Given the description of an element on the screen output the (x, y) to click on. 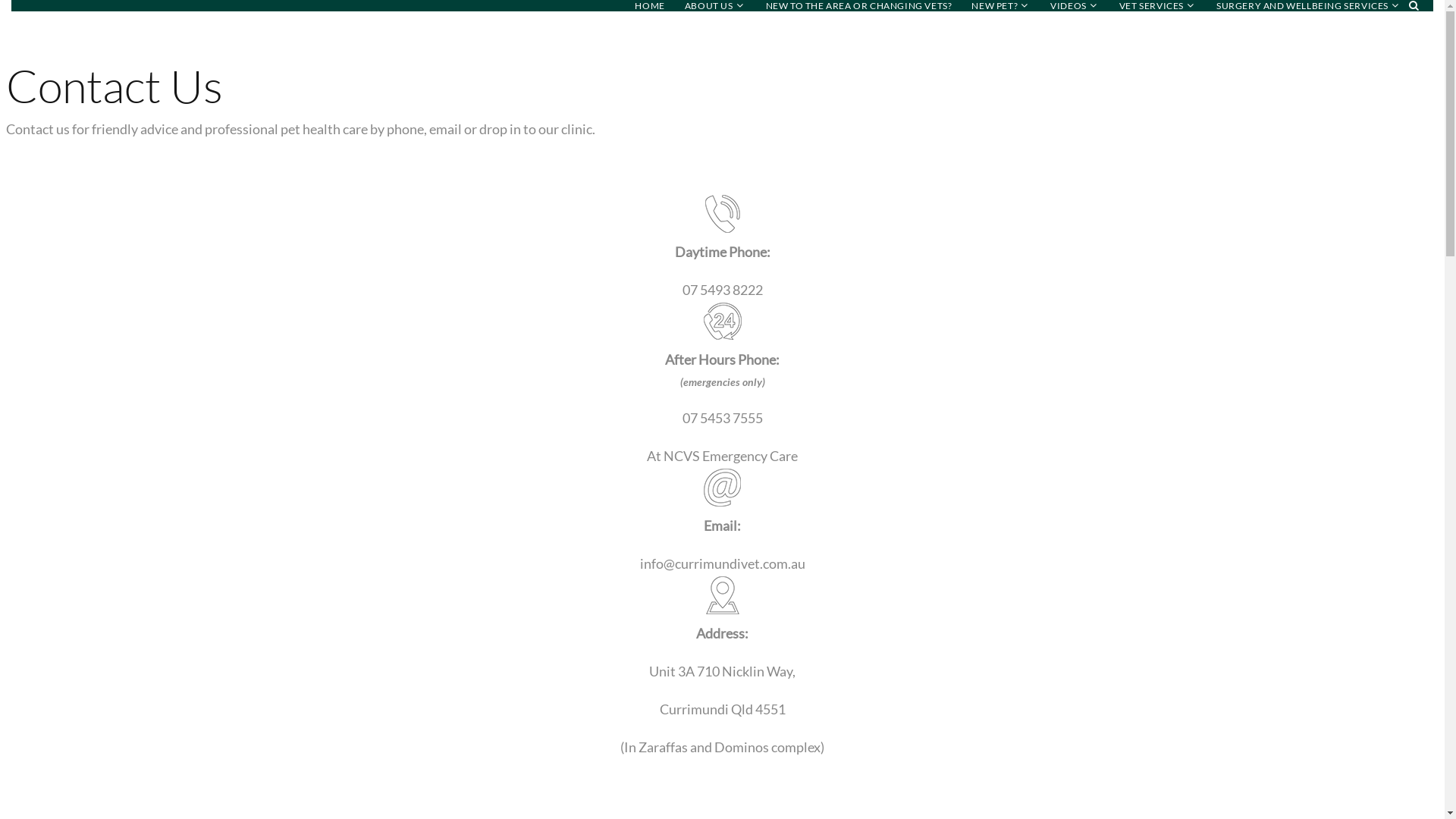
VET SERVICES Element type: text (1151, 5)
SURGERY AND WELLBEING SERVICES Element type: text (1302, 5)
NEW PET? Element type: text (994, 5)
Daytime Phone:
07 5493 8222 Element type: text (722, 248)
HOME Element type: text (649, 5)
Email:
info@currimundivet.com.au Element type: text (722, 522)
VIDEOS Element type: text (1068, 5)
ABOUT US Element type: text (708, 5)
NEW TO THE AREA OR CHANGING VETS? Element type: text (858, 5)
